Given the description of an element on the screen output the (x, y) to click on. 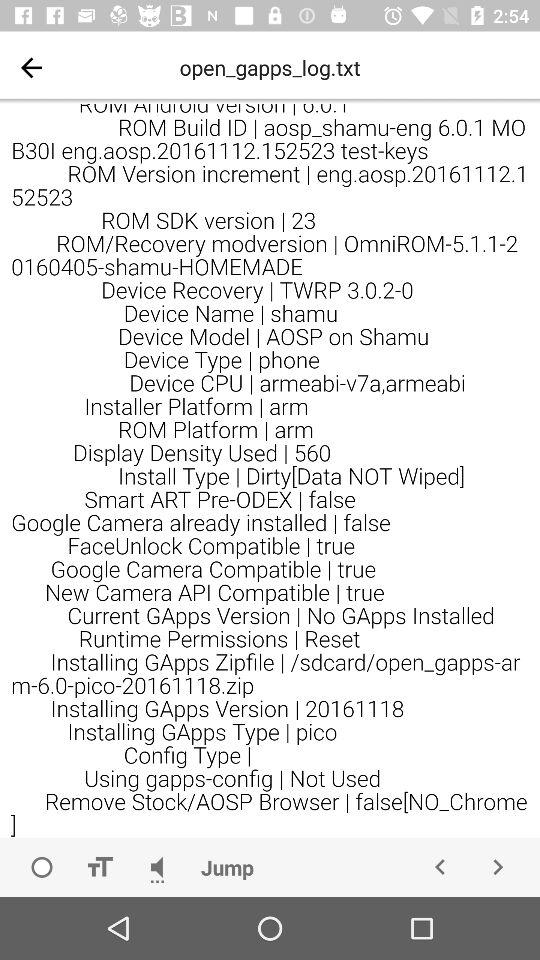
edit font settings (99, 867)
